Given the description of an element on the screen output the (x, y) to click on. 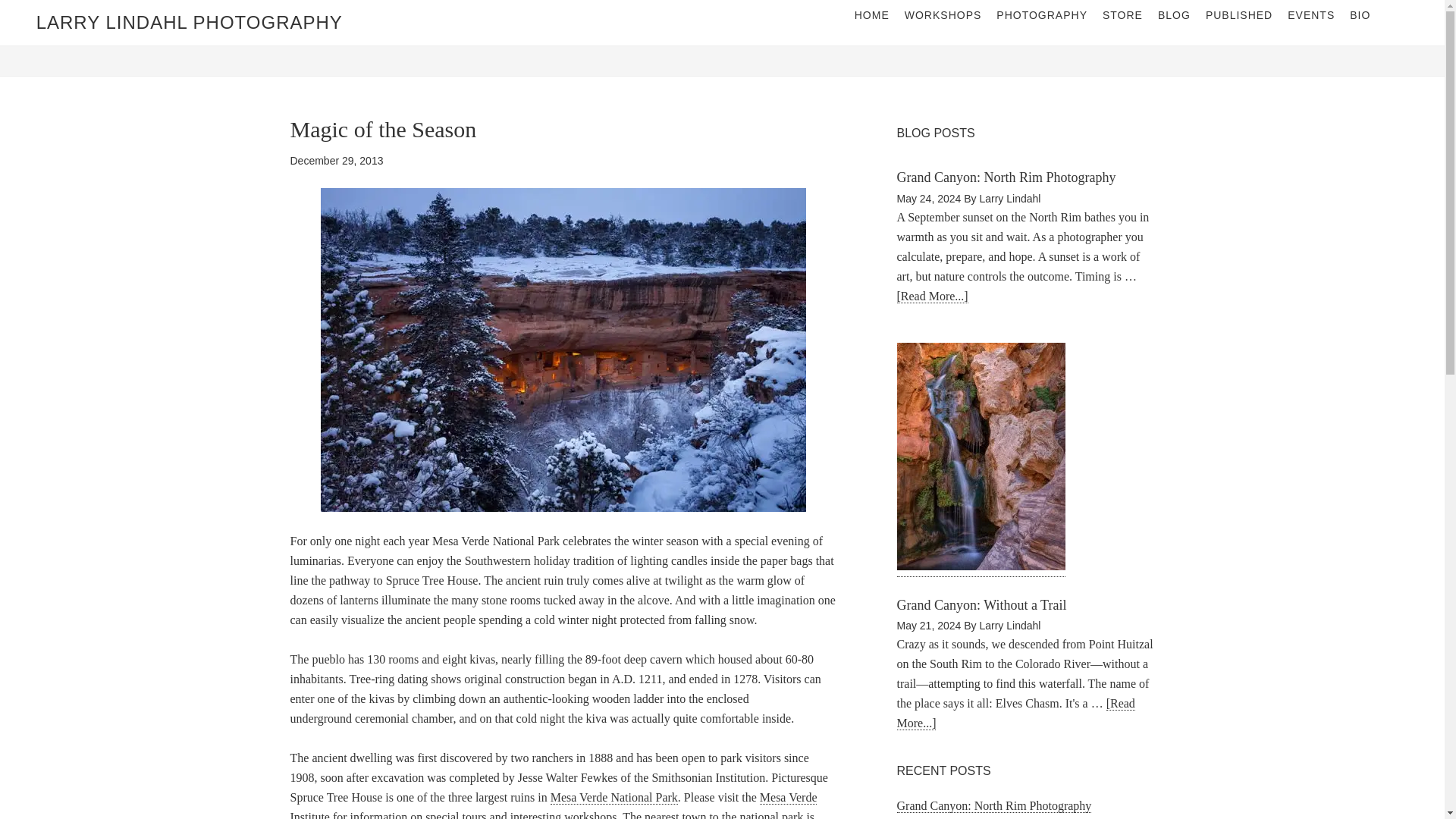
BLOG (1174, 15)
Larry Lindahl (1009, 198)
EVENTS (1310, 15)
Mesa Verde Institute (552, 805)
PHOTOGRAPHY (1041, 15)
LARRY LINDAHL PHOTOGRAPHY (189, 22)
BIO (1359, 15)
Grand Canyon: North Rim Photography (1005, 177)
HOME (871, 15)
STORE (1122, 15)
Mesa Verde National Park (614, 797)
Magic of the Season (382, 129)
PUBLISHED (1238, 15)
WORKSHOPS (943, 15)
